Given the description of an element on the screen output the (x, y) to click on. 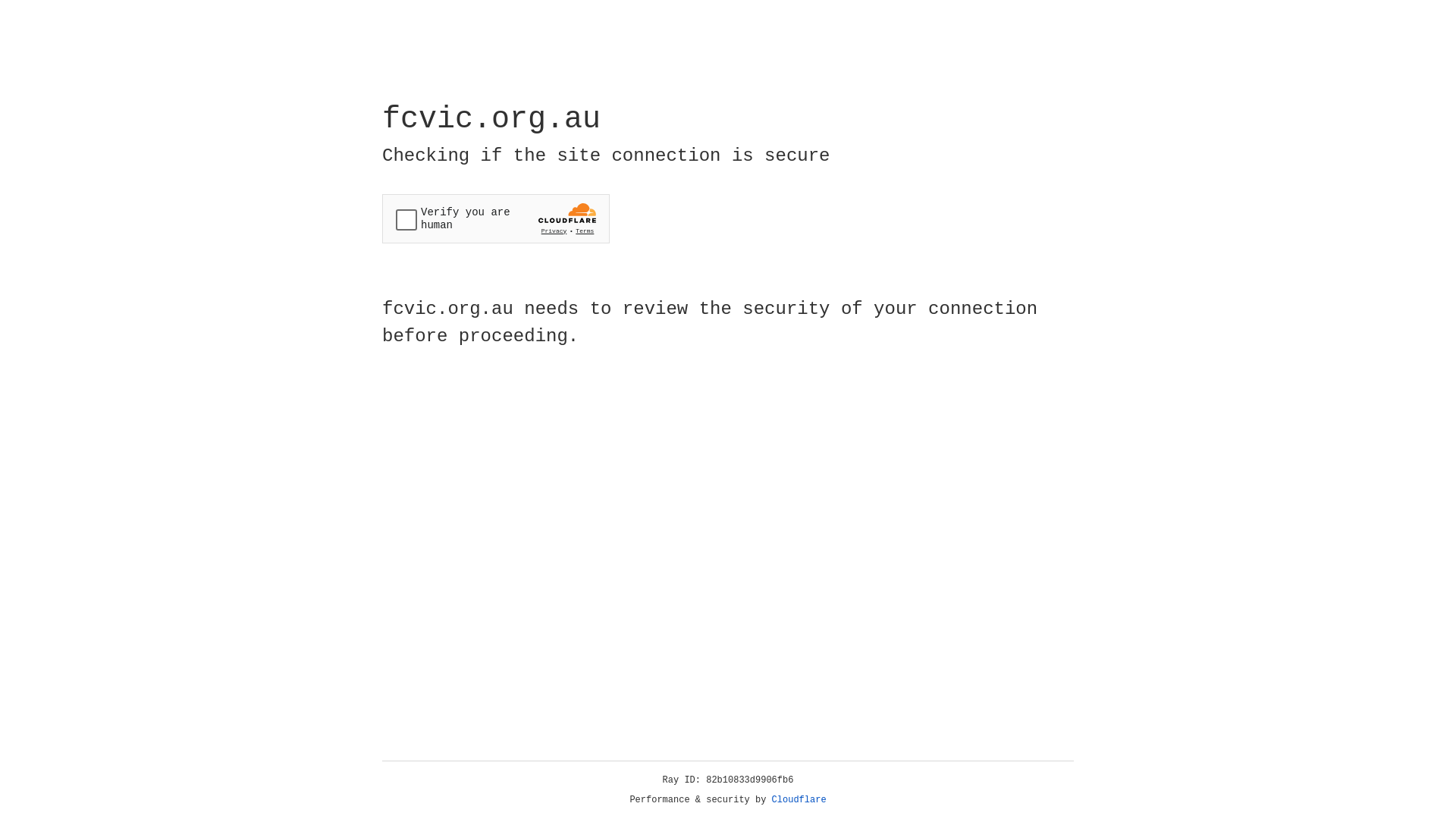
Cloudflare Element type: text (798, 799)
Widget containing a Cloudflare security challenge Element type: hover (495, 218)
